Given the description of an element on the screen output the (x, y) to click on. 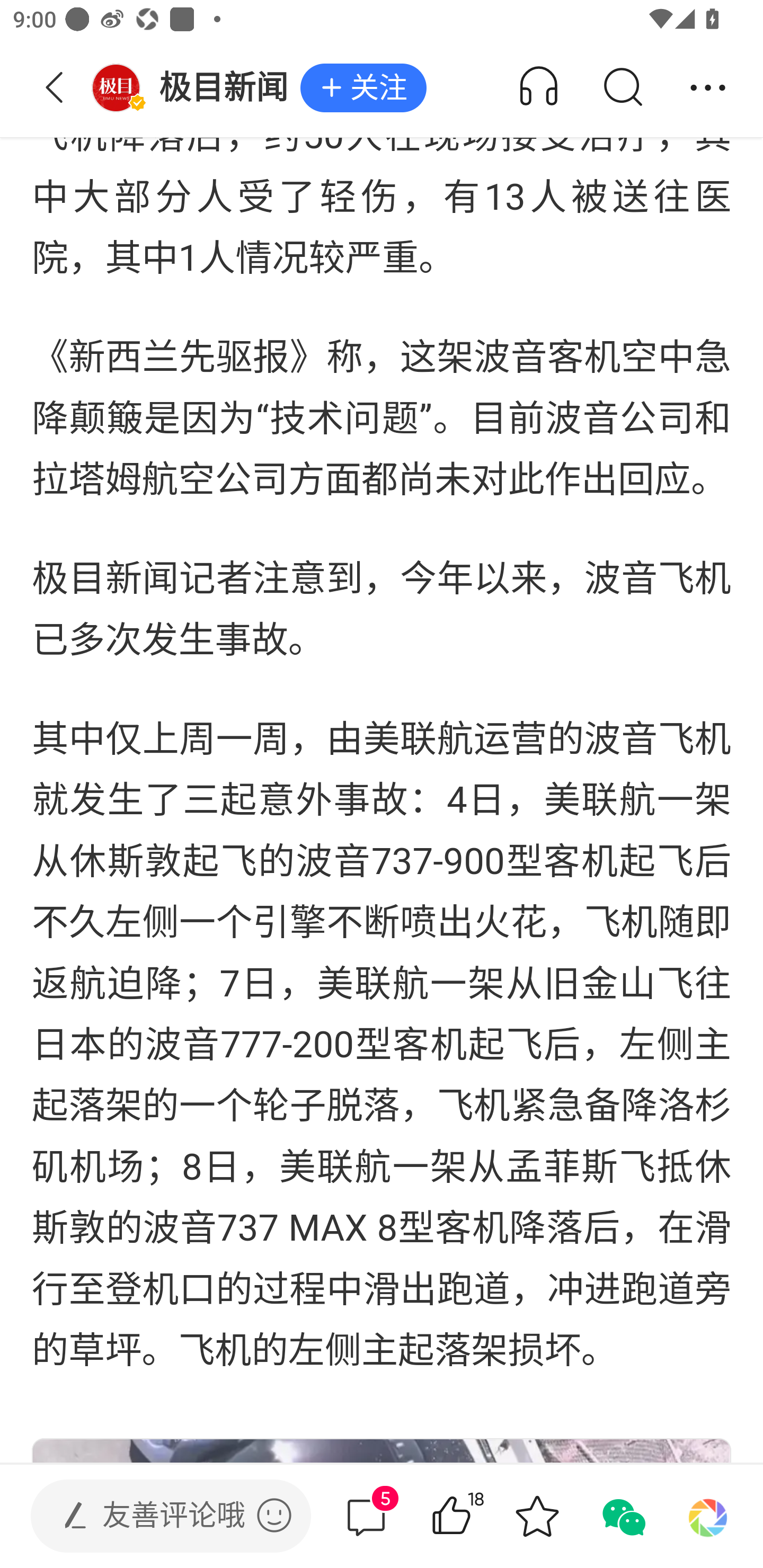
极目新闻 (195, 87)
搜索  (622, 87)
分享  (707, 87)
 返回 (54, 87)
 关注 (363, 88)
发表评论  友善评论哦 发表评论  (155, 1516)
5评论  5 评论 (365, 1516)
18赞 (476, 1516)
收藏  (536, 1516)
分享到微信  (622, 1516)
分享到朋友圈 (707, 1516)
 (274, 1515)
